Given the description of an element on the screen output the (x, y) to click on. 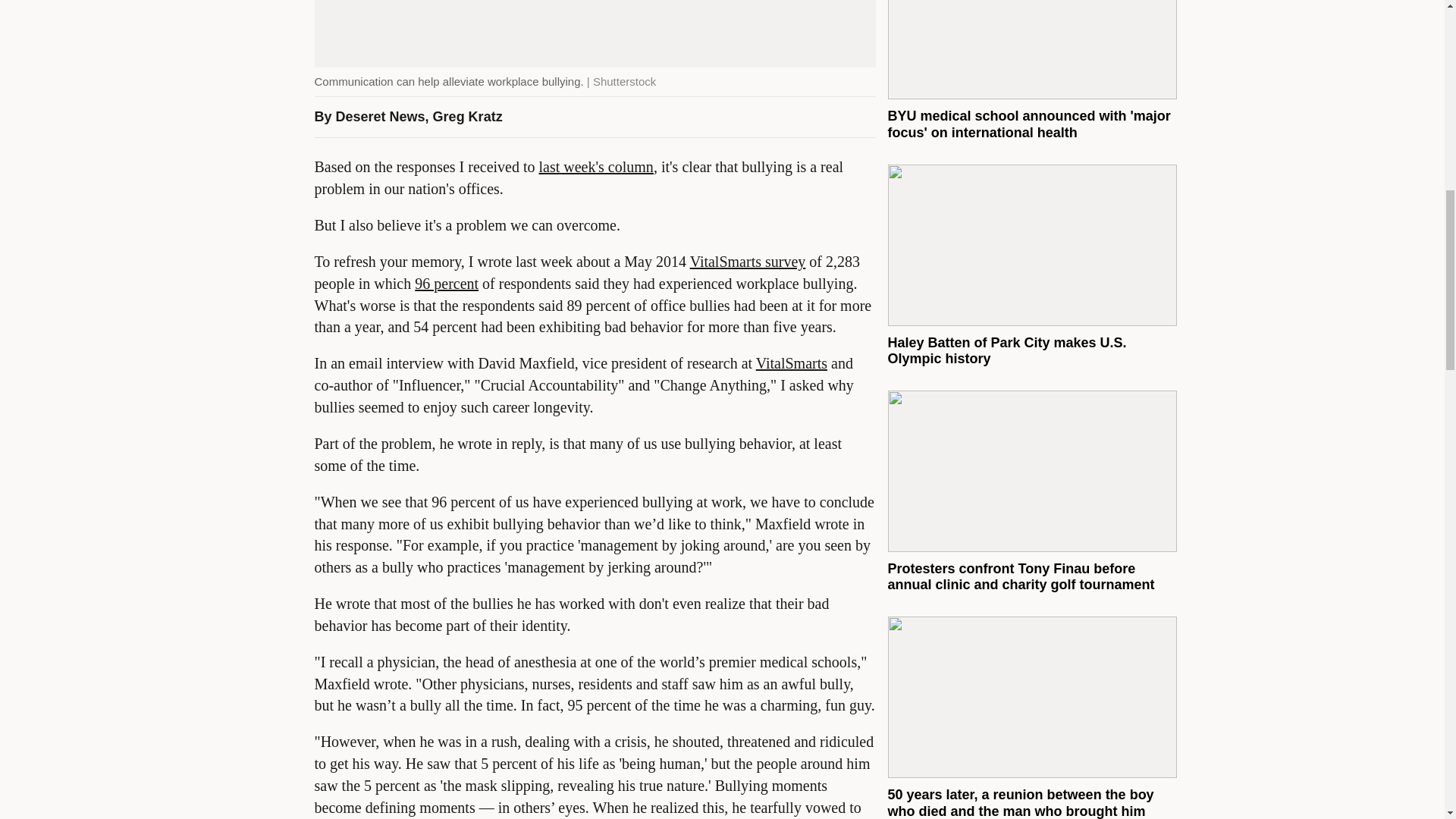
96 percent (446, 283)
Haley Batten of Park City makes U.S. Olympic history (1005, 350)
last week's column (595, 166)
VitalSmarts (791, 362)
Deseret News (380, 116)
VitalSmarts survey (748, 261)
